Given the description of an element on the screen output the (x, y) to click on. 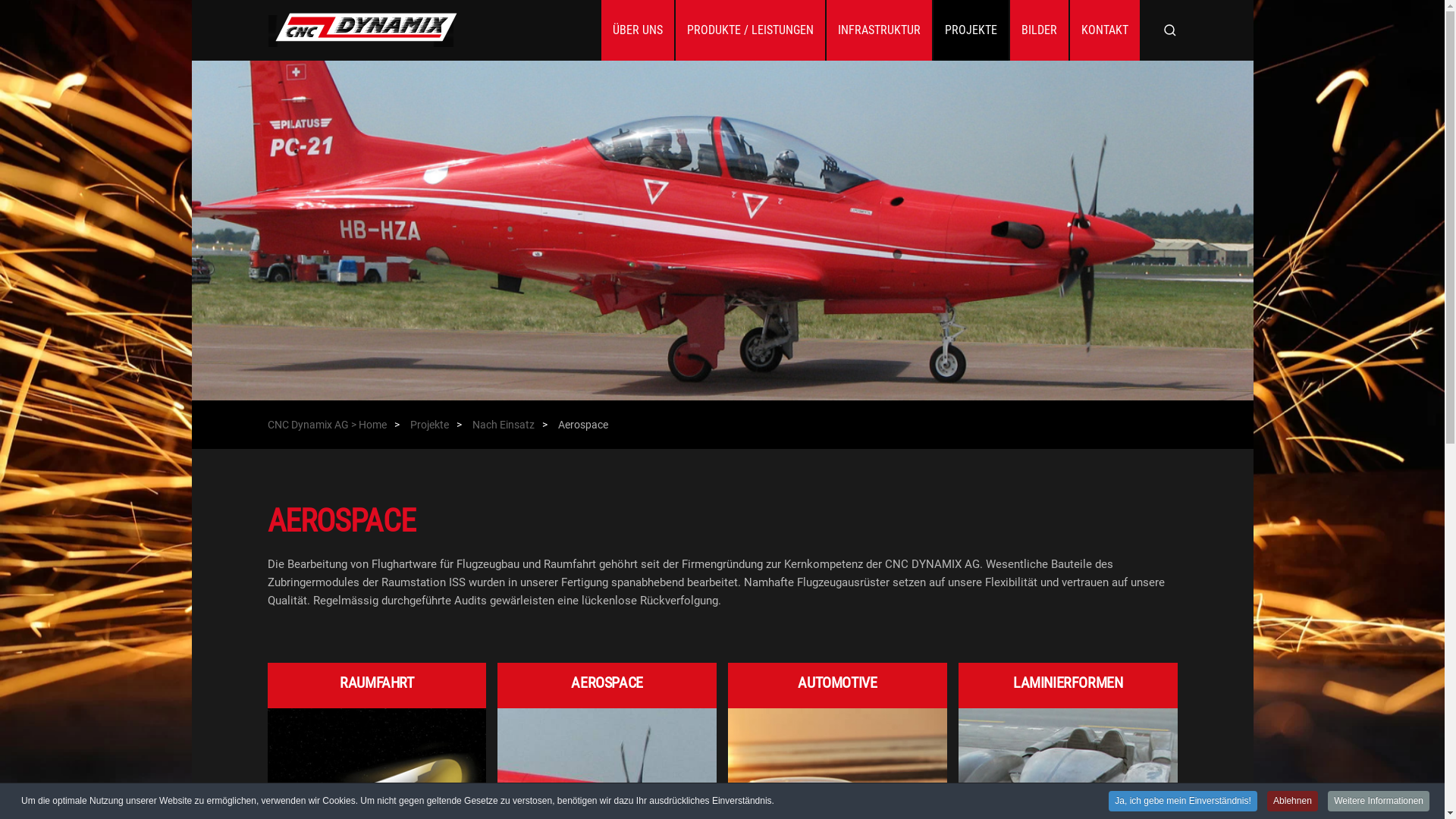
Nach Einsatz Element type: text (502, 424)
INFRASTRUKTUR Element type: text (878, 30)
BILDER Element type: text (1039, 30)
Ablehnen Element type: text (1292, 800)
Projekte Element type: text (428, 424)
Weitere Informationen Element type: text (1378, 800)
PROJEKTE Element type: text (969, 30)
PRODUKTE / LEISTUNGEN Element type: text (749, 30)
CNC Dynamix AG > Home Element type: text (325, 424)
KONTAKT Element type: text (1104, 30)
